Given the description of an element on the screen output the (x, y) to click on. 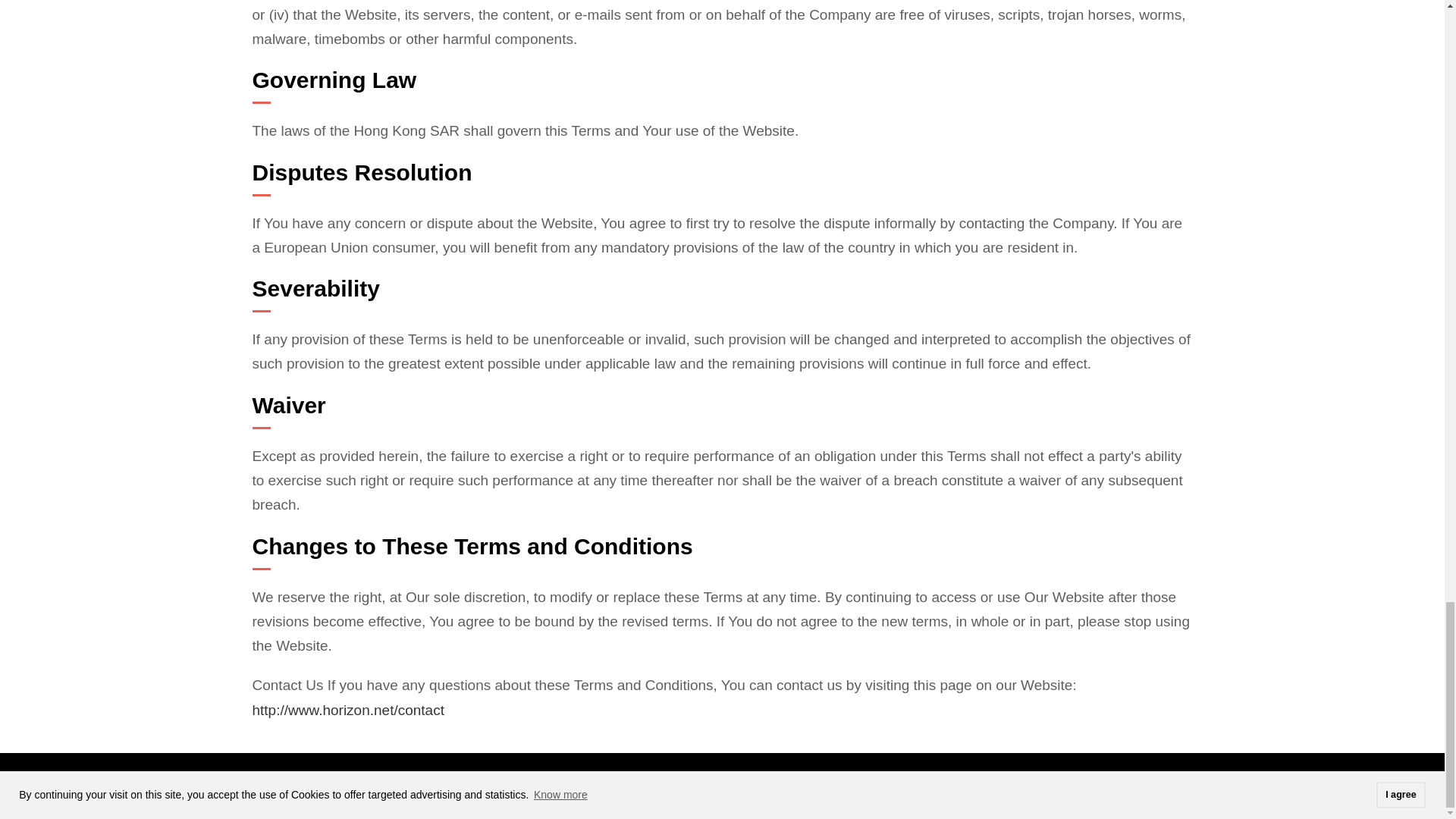
Conception (295, 784)
Privacy policy (111, 784)
Terms of use (204, 784)
Privacy policy (111, 784)
Terms of use (204, 784)
